Given the description of an element on the screen output the (x, y) to click on. 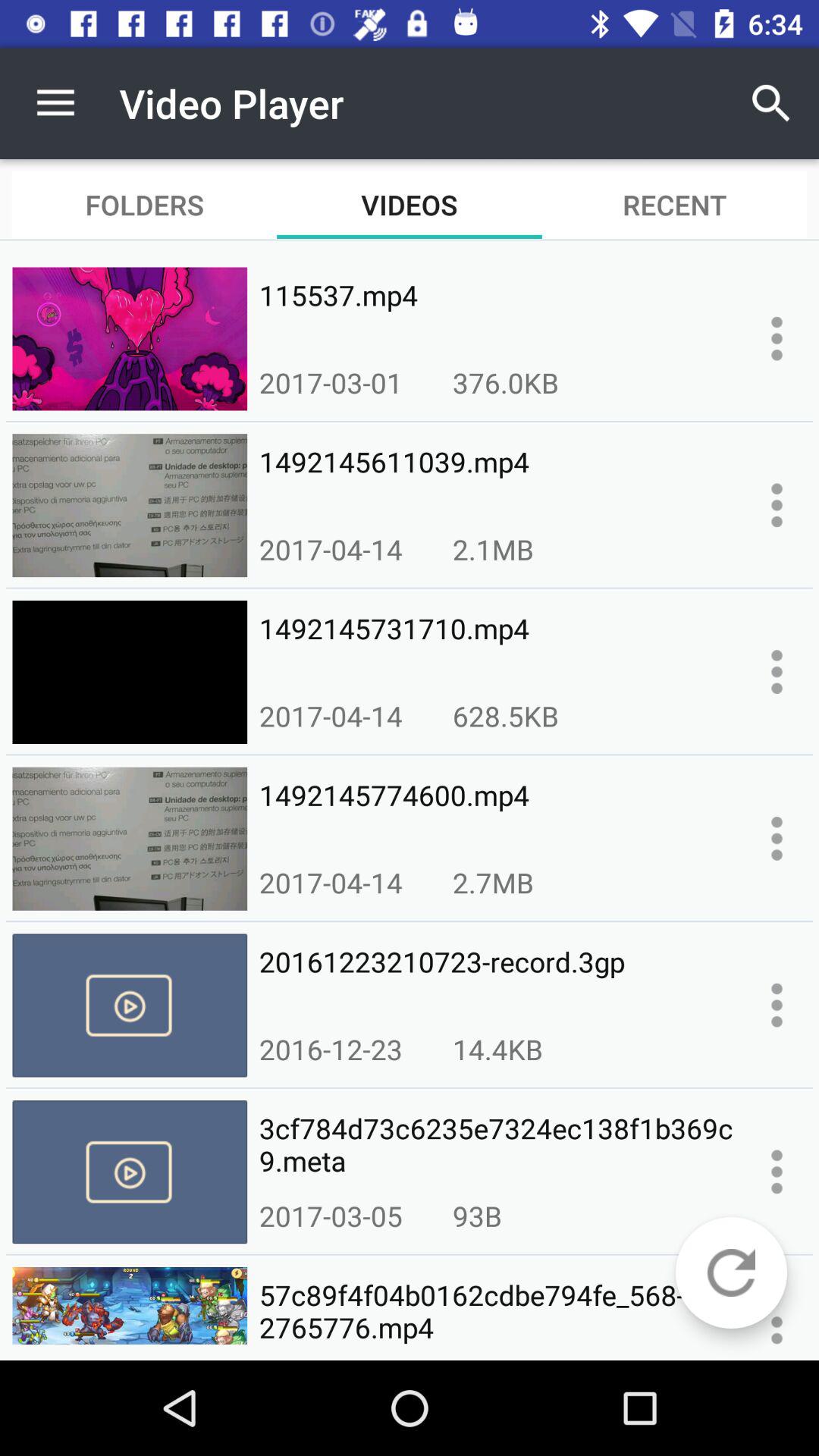
tap icon below the 2017-04-14 icon (496, 978)
